Given the description of an element on the screen output the (x, y) to click on. 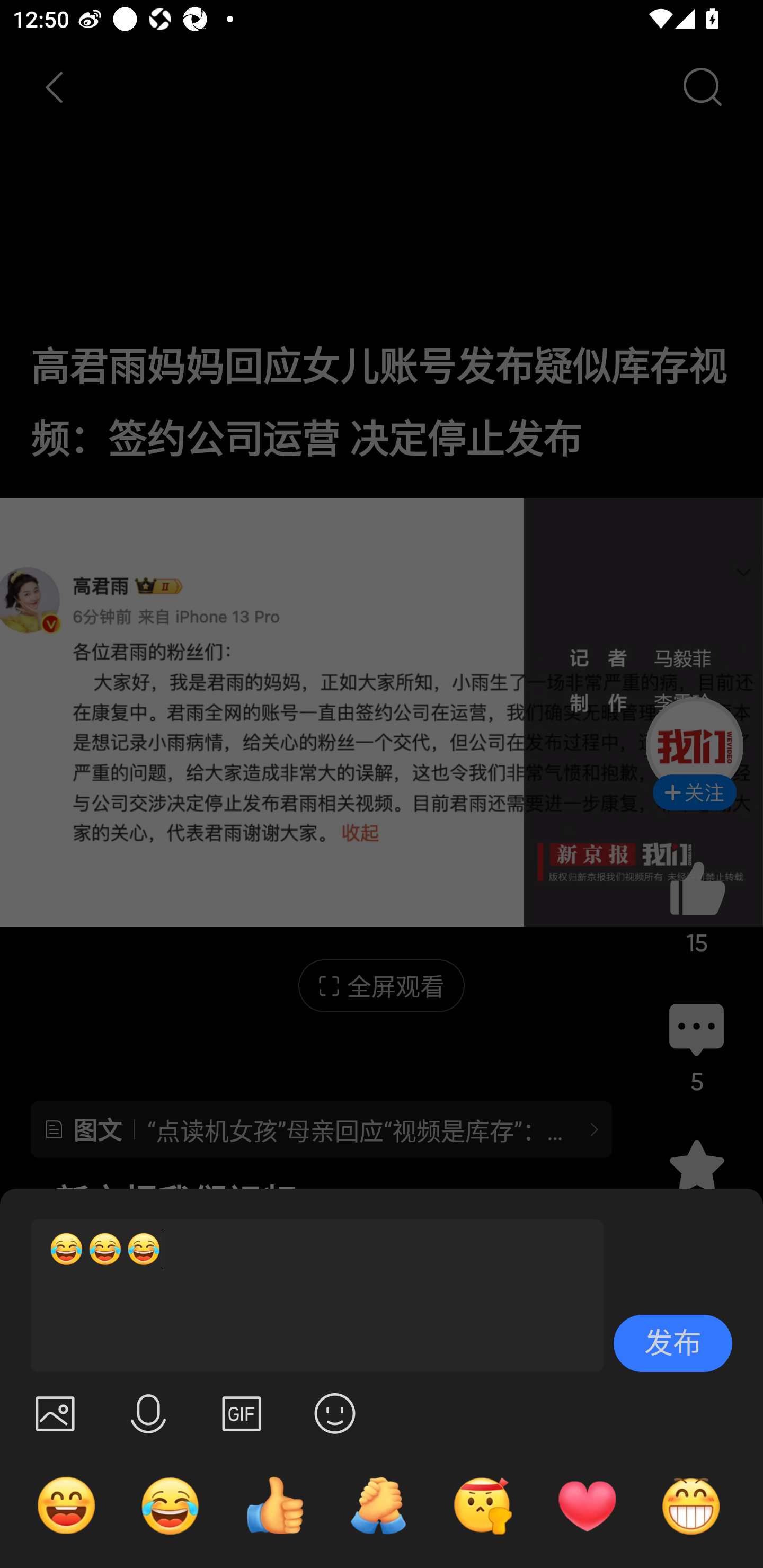
[哭笑][哭笑][哭笑] (308, 1295)
发布 (672, 1343)
 (54, 1413)
 (148, 1413)
 (241, 1413)
 (334, 1413)
哈哈 (66, 1505)
哭笑 (170, 1505)
点赞 (274, 1505)
加油 (378, 1505)
奋斗 (482, 1505)
心 (586, 1505)
呲牙 (690, 1505)
